Given the description of an element on the screen output the (x, y) to click on. 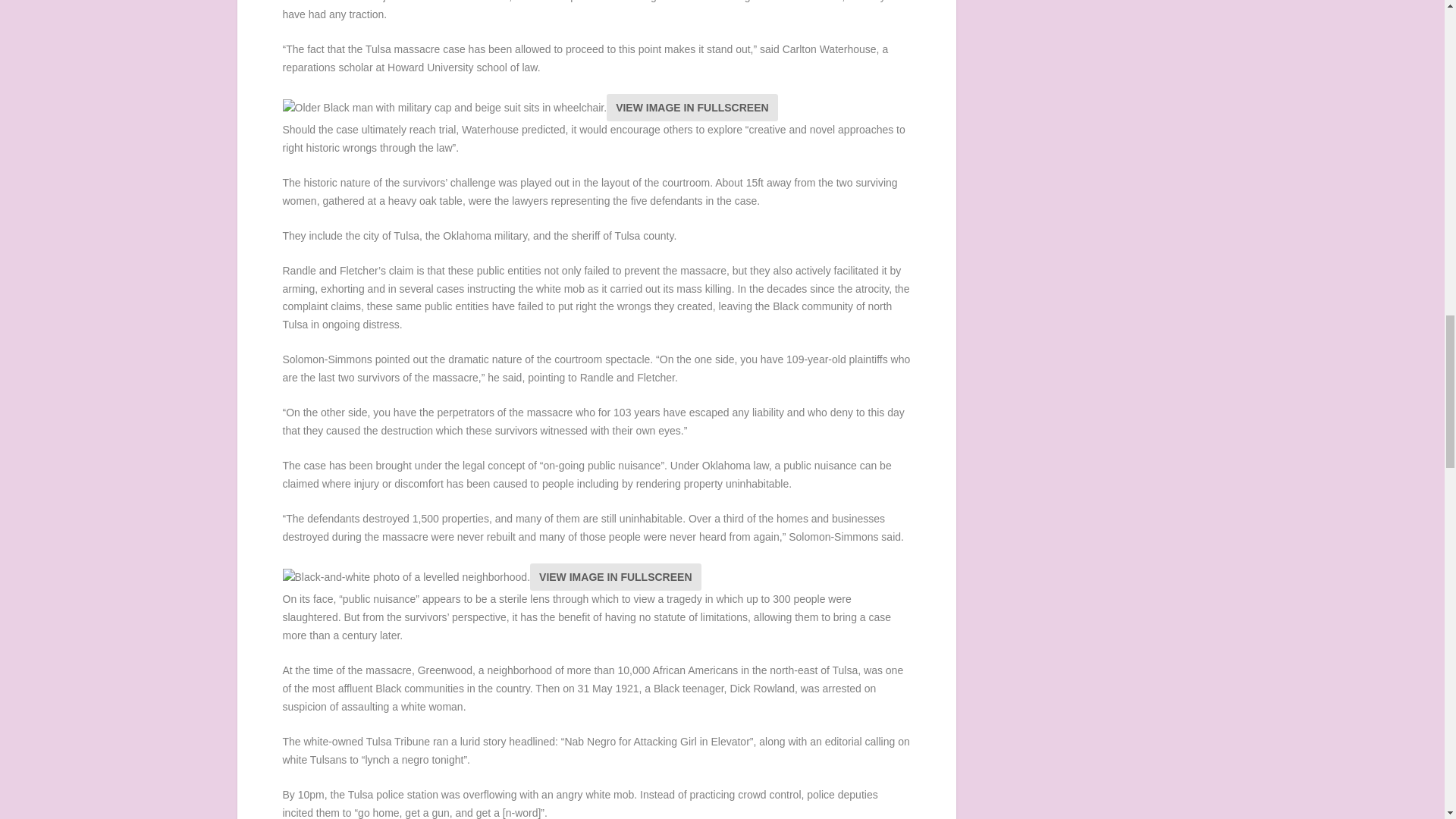
VIEW IMAGE IN FULLSCREEN (614, 576)
VIEW IMAGE IN FULLSCREEN (614, 576)
VIEW IMAGE IN FULLSCREEN (692, 107)
VIEW IMAGE IN FULLSCREEN (692, 107)
